Given the description of an element on the screen output the (x, y) to click on. 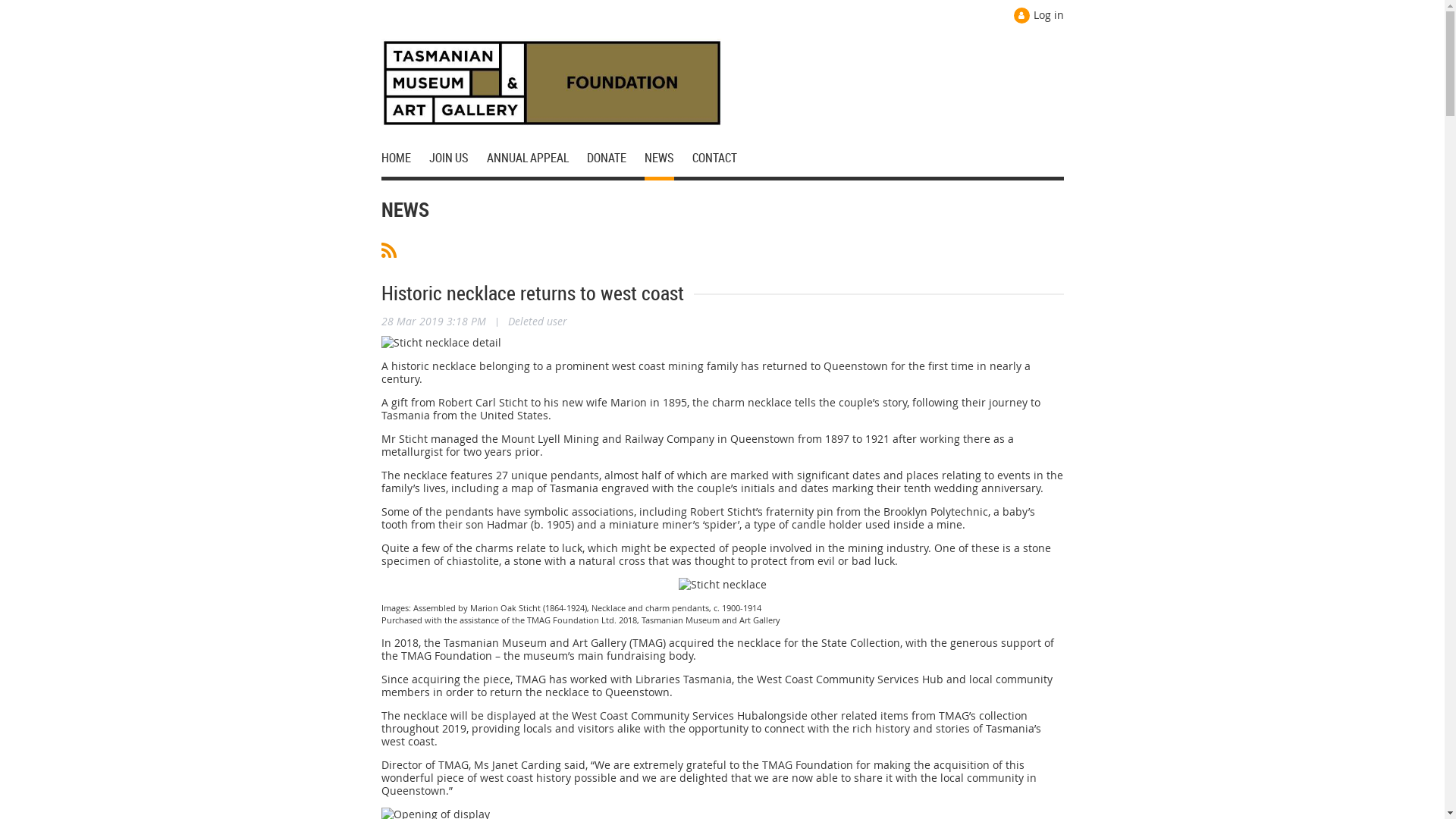
ANNUAL APPEAL Element type: text (536, 160)
HOME Element type: text (404, 160)
DONATE Element type: text (615, 160)
CONTACT Element type: text (713, 160)
Historic necklace returns to west coast Element type: text (531, 292)
NEWS Element type: text (668, 160)
JOIN US Element type: text (457, 160)
Log in Element type: text (1038, 15)
